Given the description of an element on the screen output the (x, y) to click on. 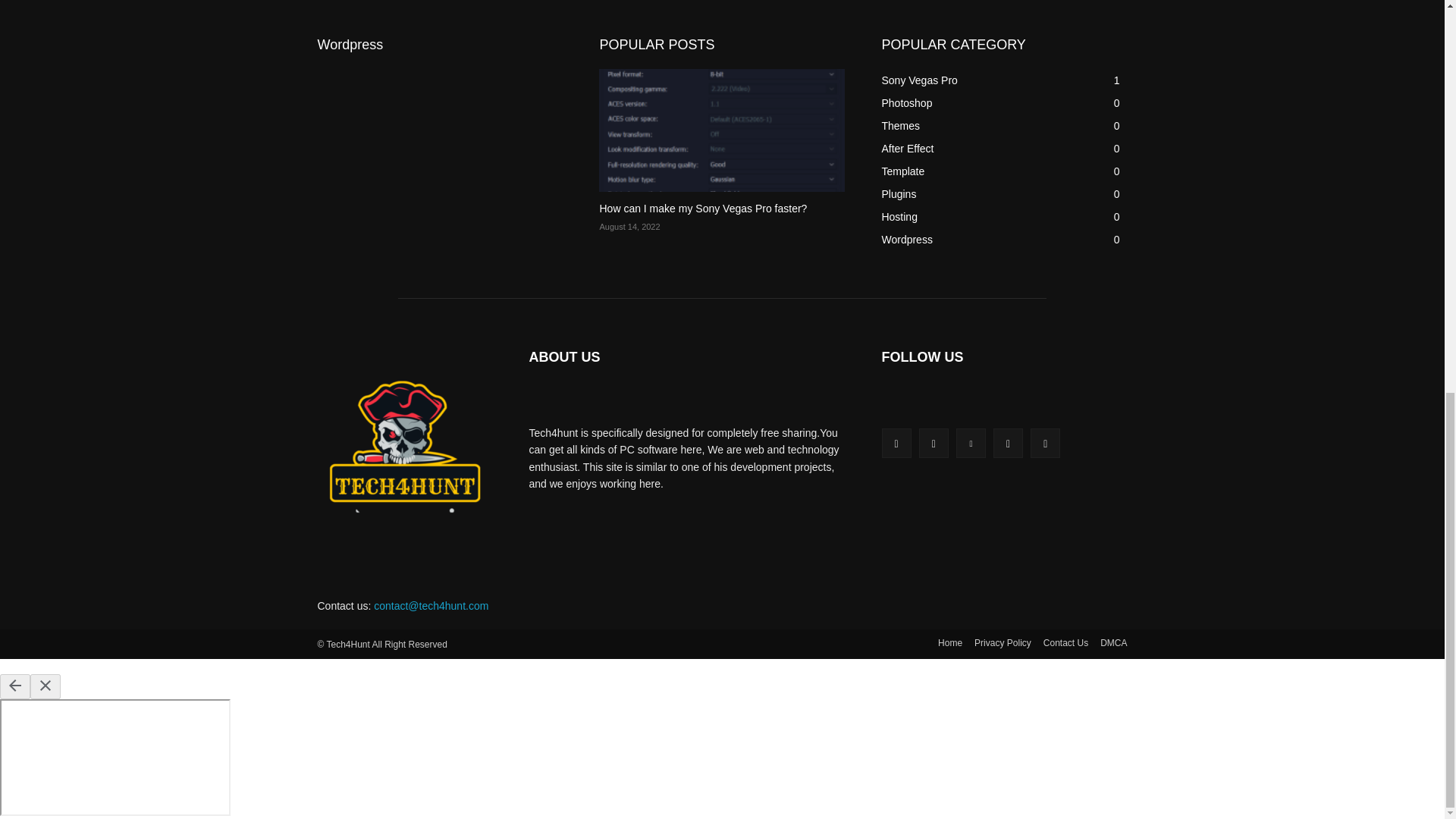
How can I make my Sony Vegas Pro faster? (721, 129)
How can I make my Sony Vegas Pro faster? (702, 208)
Facebook (895, 442)
